Given the description of an element on the screen output the (x, y) to click on. 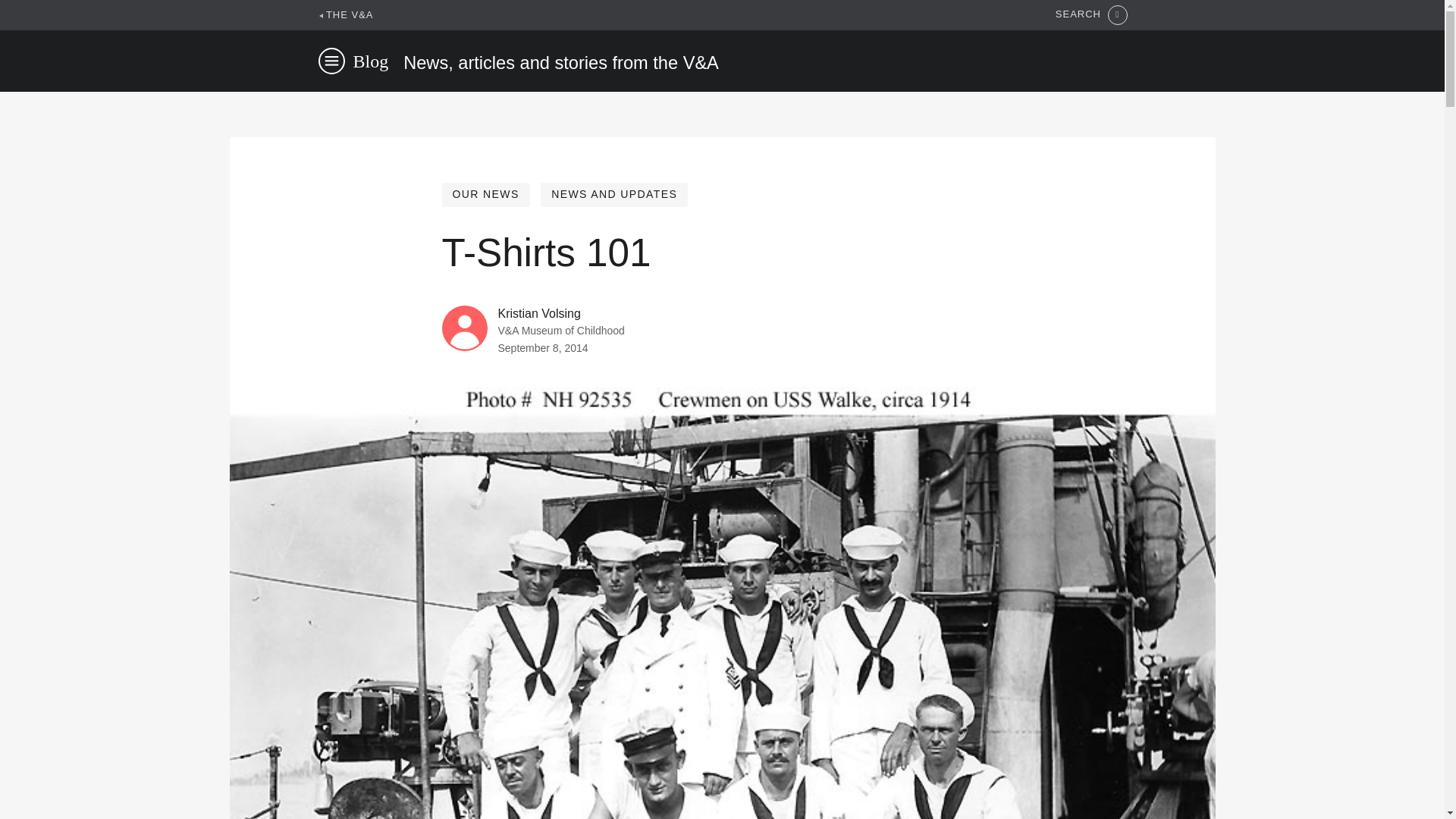
OUR NEWS (485, 194)
NEWS AND UPDATES (613, 194)
SEARCH (1090, 15)
Kristian Volsing (538, 313)
Blog (370, 60)
Posts by Kristian Volsing (538, 313)
